Given the description of an element on the screen output the (x, y) to click on. 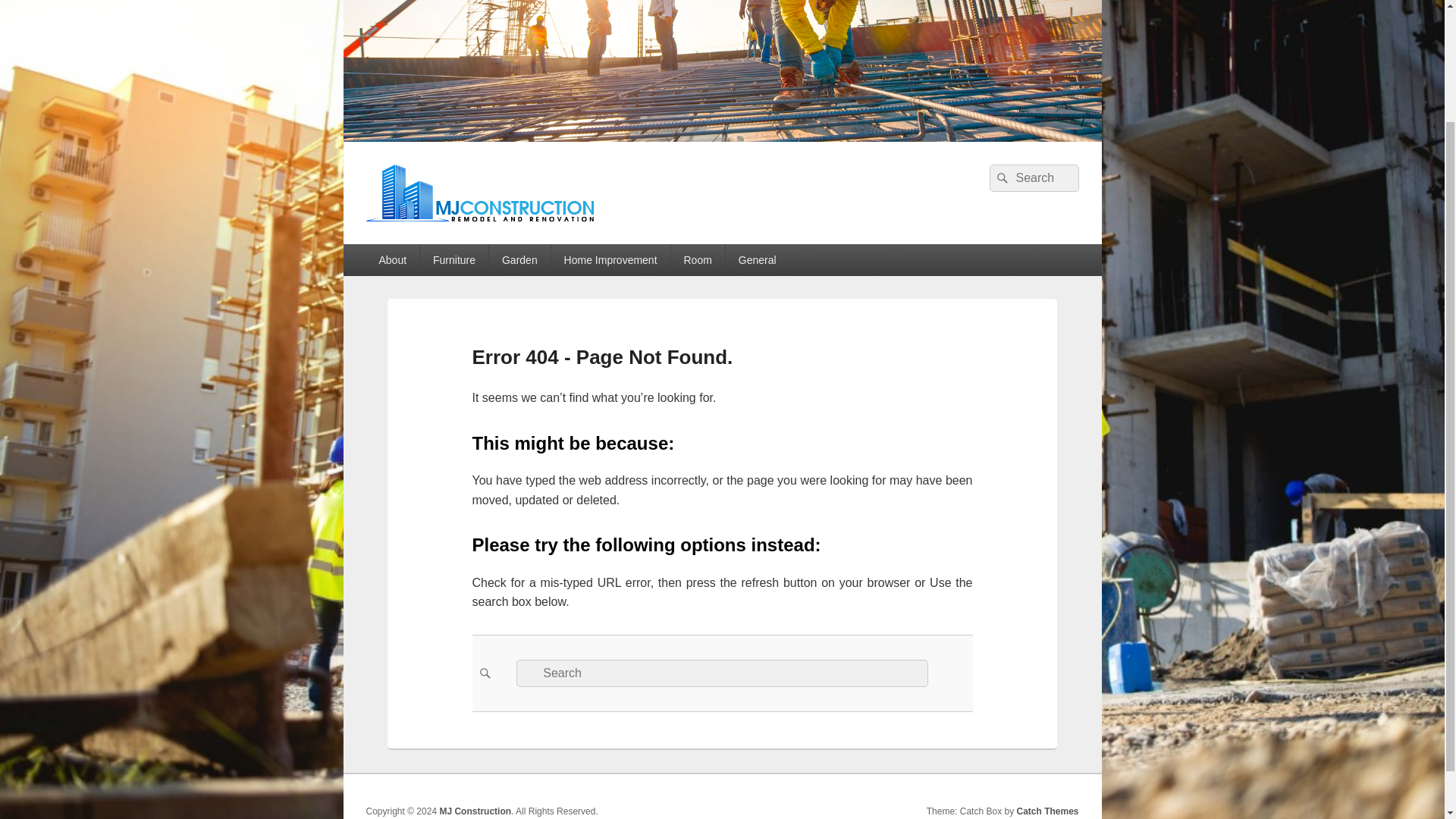
About (392, 260)
MJ Construction (475, 810)
Garden (519, 260)
Search for: (722, 673)
MJ Construction (472, 237)
MJ Construction (721, 137)
Furniture (453, 260)
Home Improvement (610, 260)
Catch Themes (1047, 810)
Search for: (1033, 177)
